Given the description of an element on the screen output the (x, y) to click on. 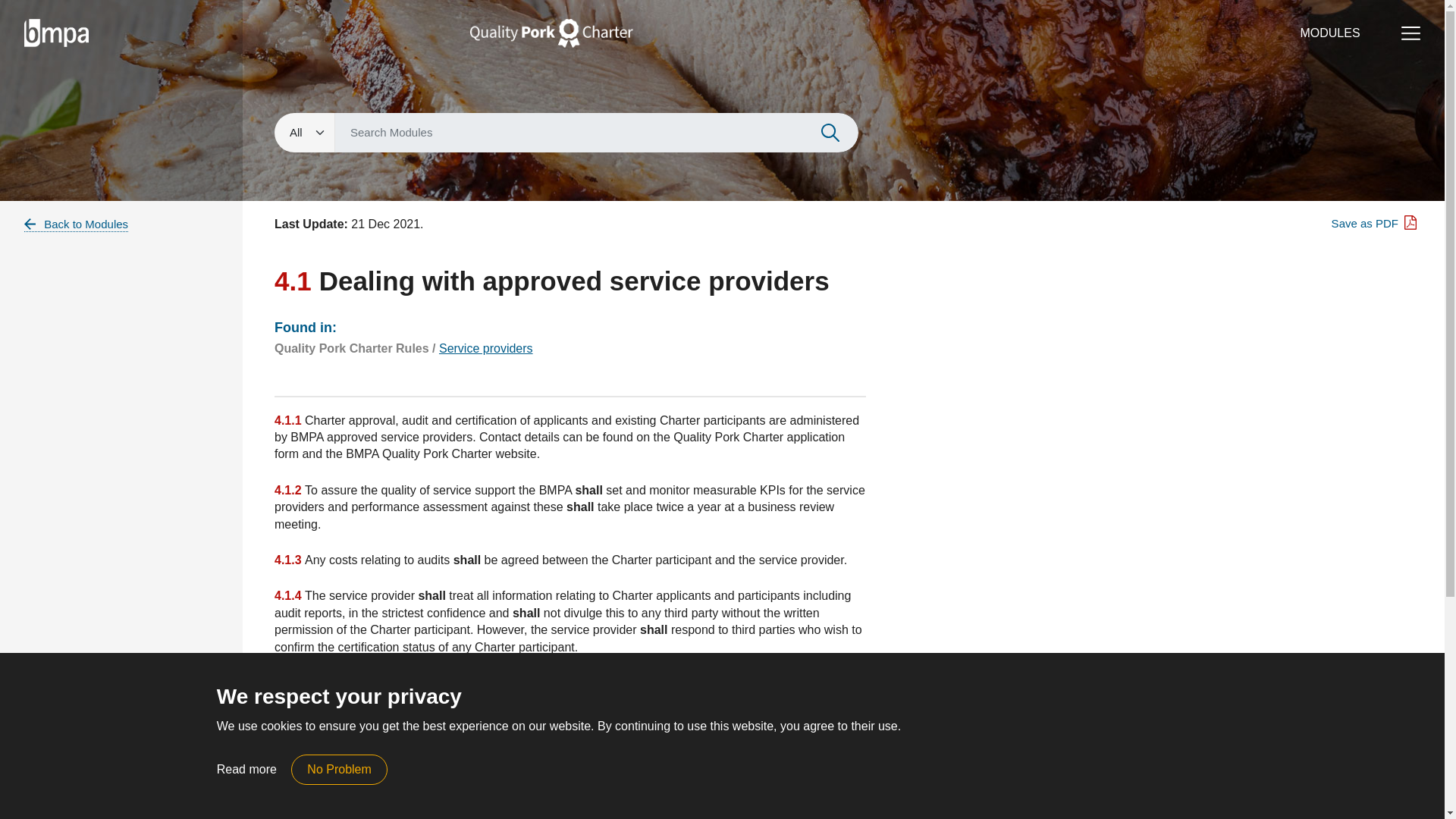
MODULES (1329, 31)
Back to Modules (76, 224)
No Problem (339, 768)
Read more (246, 768)
Service providers (485, 348)
